Given the description of an element on the screen output the (x, y) to click on. 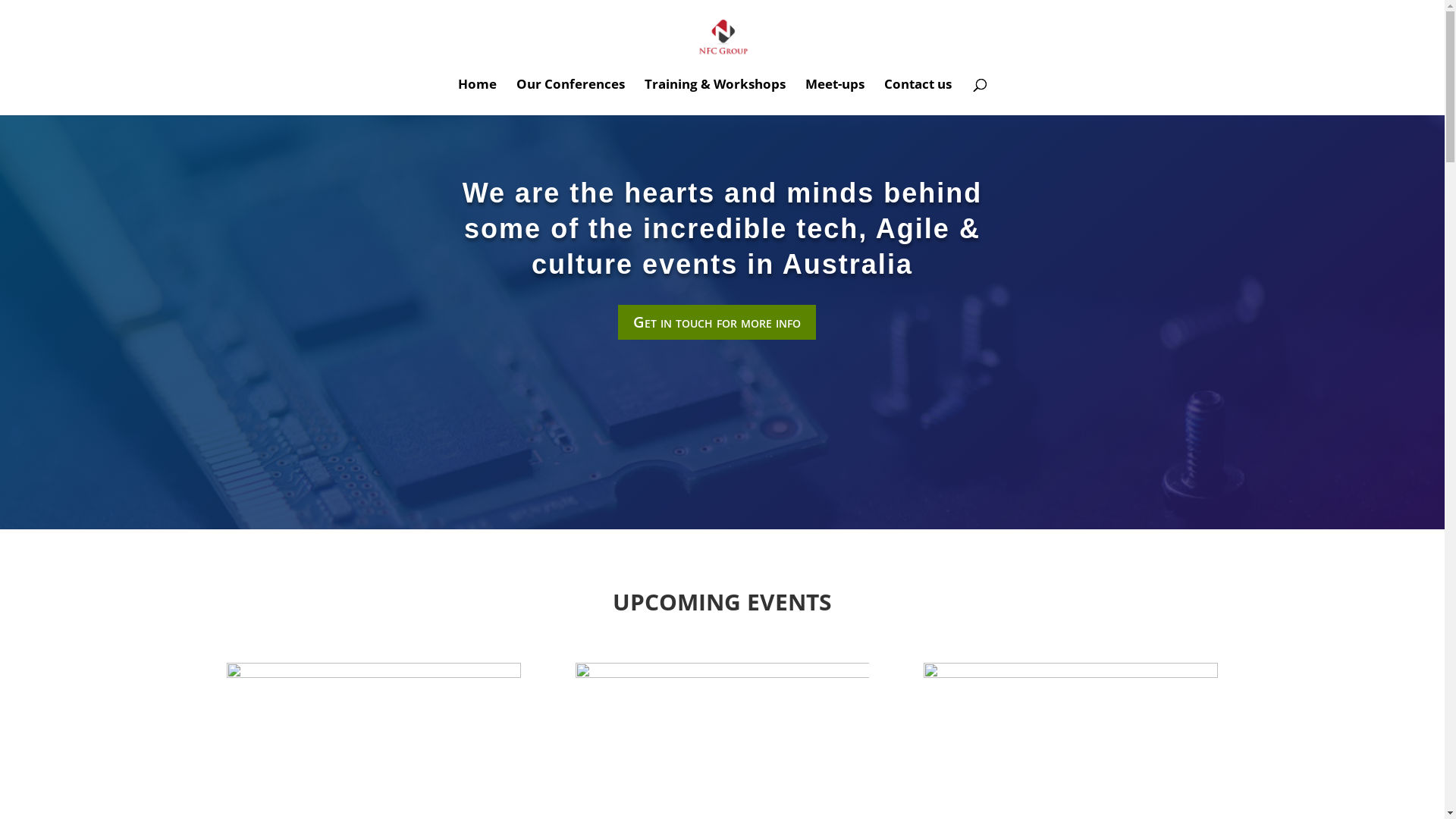
Contact us Element type: text (917, 96)
Meet-ups Element type: text (834, 96)
Training & Workshops Element type: text (714, 96)
Get in touch for more info Element type: text (716, 321)
Home Element type: text (477, 96)
Our Conferences Element type: text (570, 96)
